Given the description of an element on the screen output the (x, y) to click on. 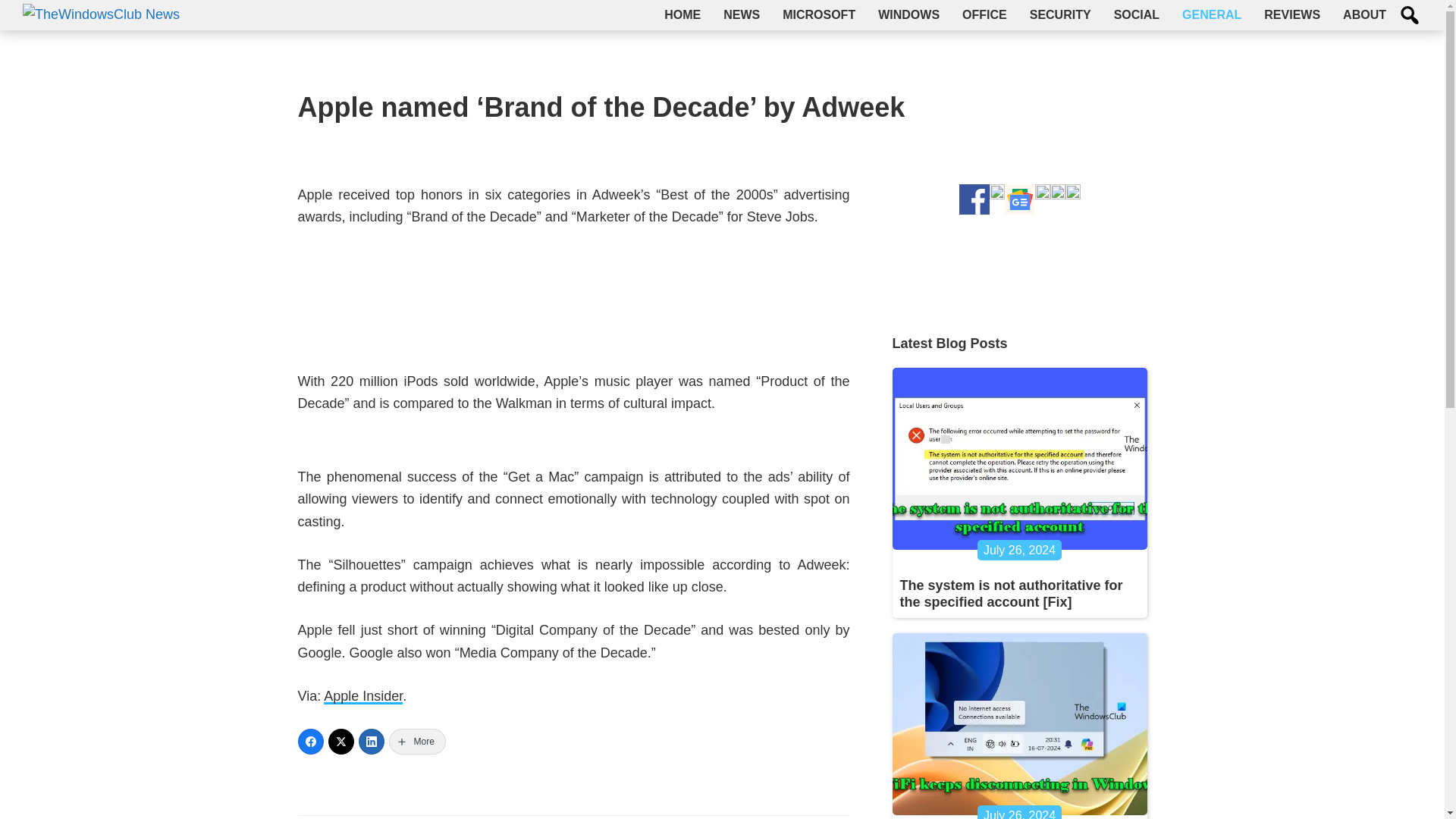
OFFICE (983, 15)
ABOUT (1364, 15)
More (416, 741)
MICROSOFT (818, 15)
Apple Mac (573, 299)
HOME (681, 15)
SOCIAL (1136, 15)
Show Search (1409, 15)
GENERAL (1211, 15)
REVIEWS (1292, 15)
NEWS (741, 15)
Apple Insider (363, 696)
SECURITY (1059, 15)
WINDOWS (908, 15)
